Given the description of an element on the screen output the (x, y) to click on. 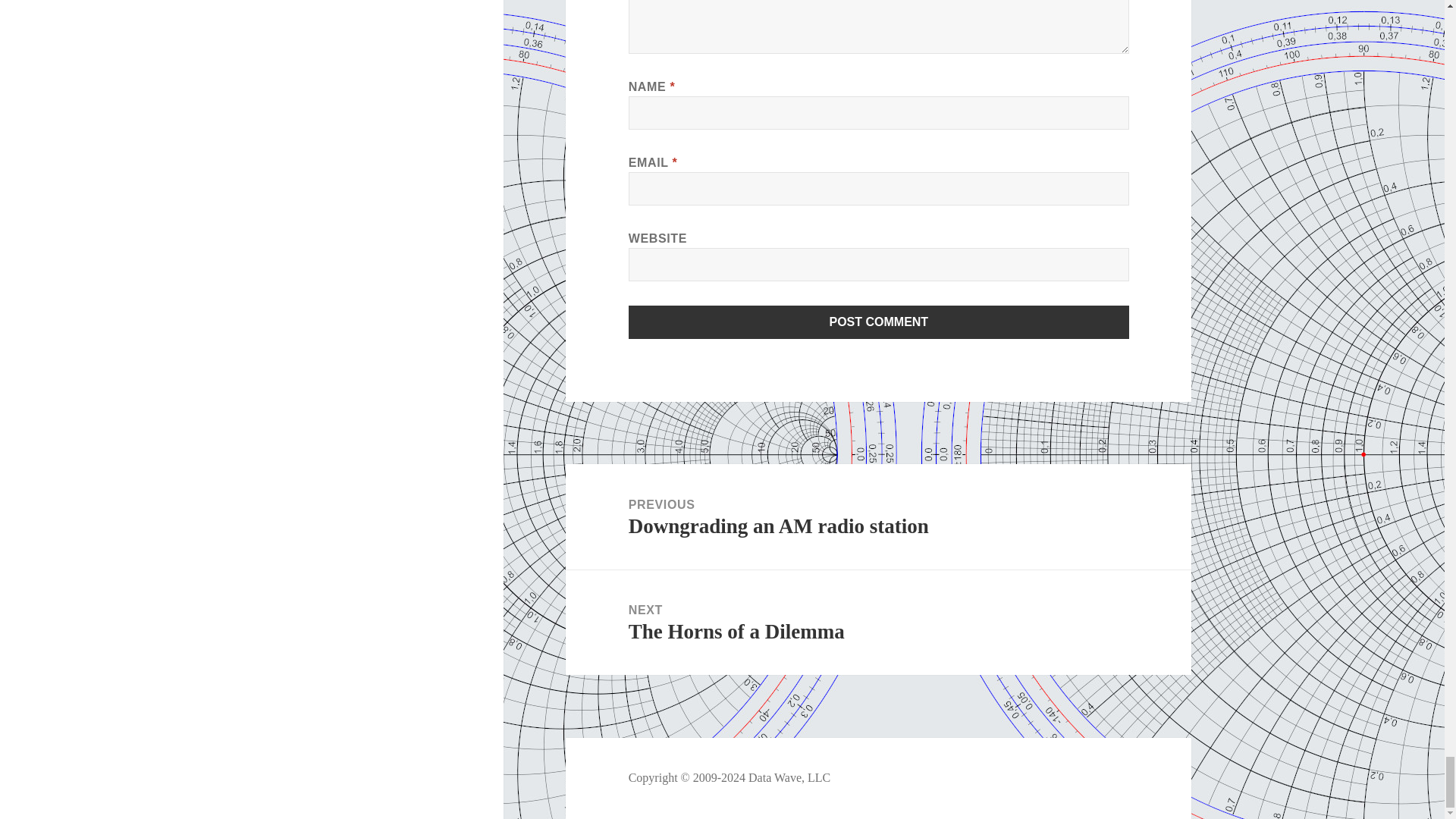
Post Comment (878, 322)
